Given the description of an element on the screen output the (x, y) to click on. 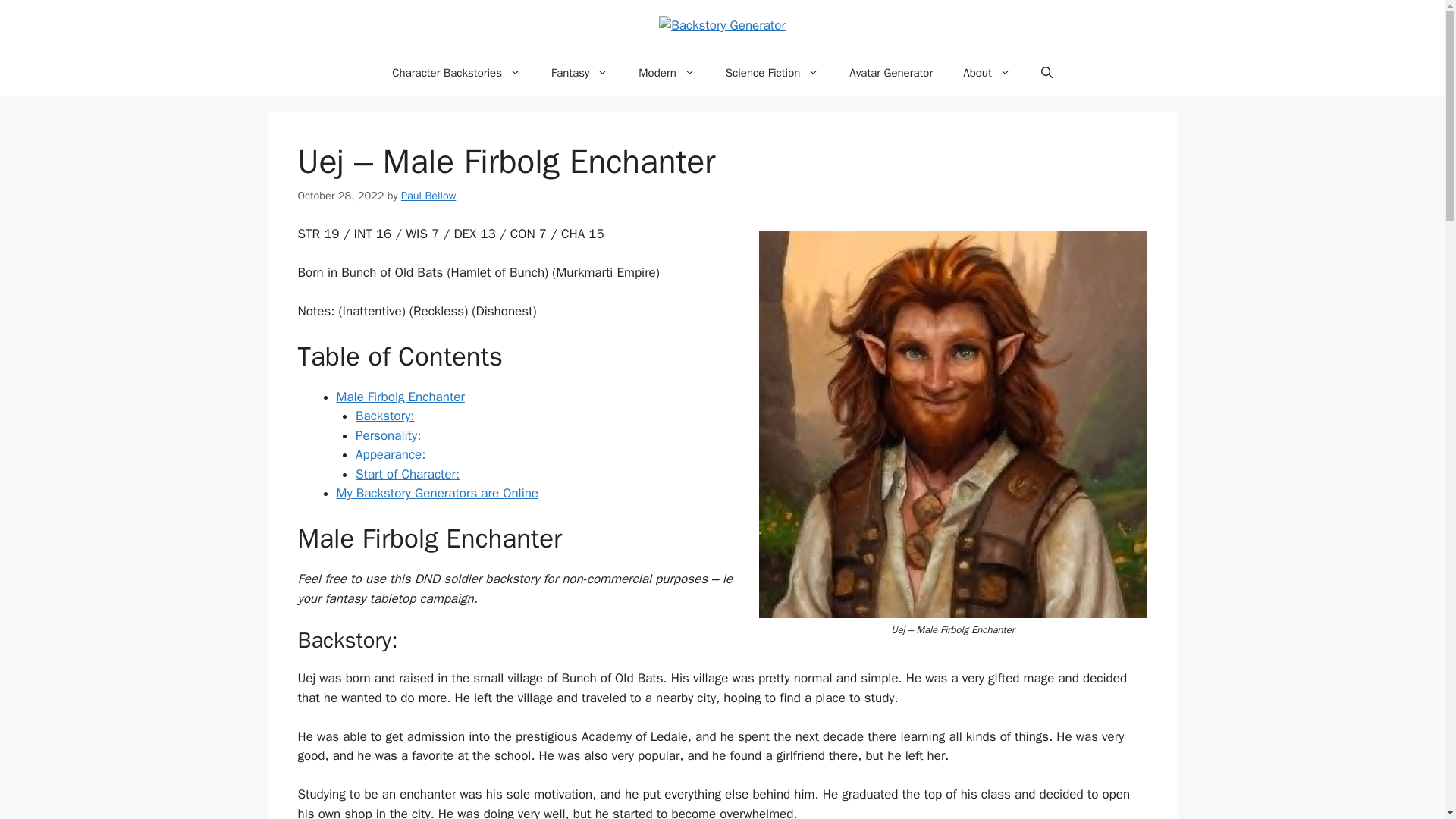
Character Backstories (456, 72)
Modern (666, 72)
Avatar Generator (890, 72)
Science Fiction (772, 72)
Fantasy (579, 72)
View all posts by Paul Bellow (428, 195)
